Given the description of an element on the screen output the (x, y) to click on. 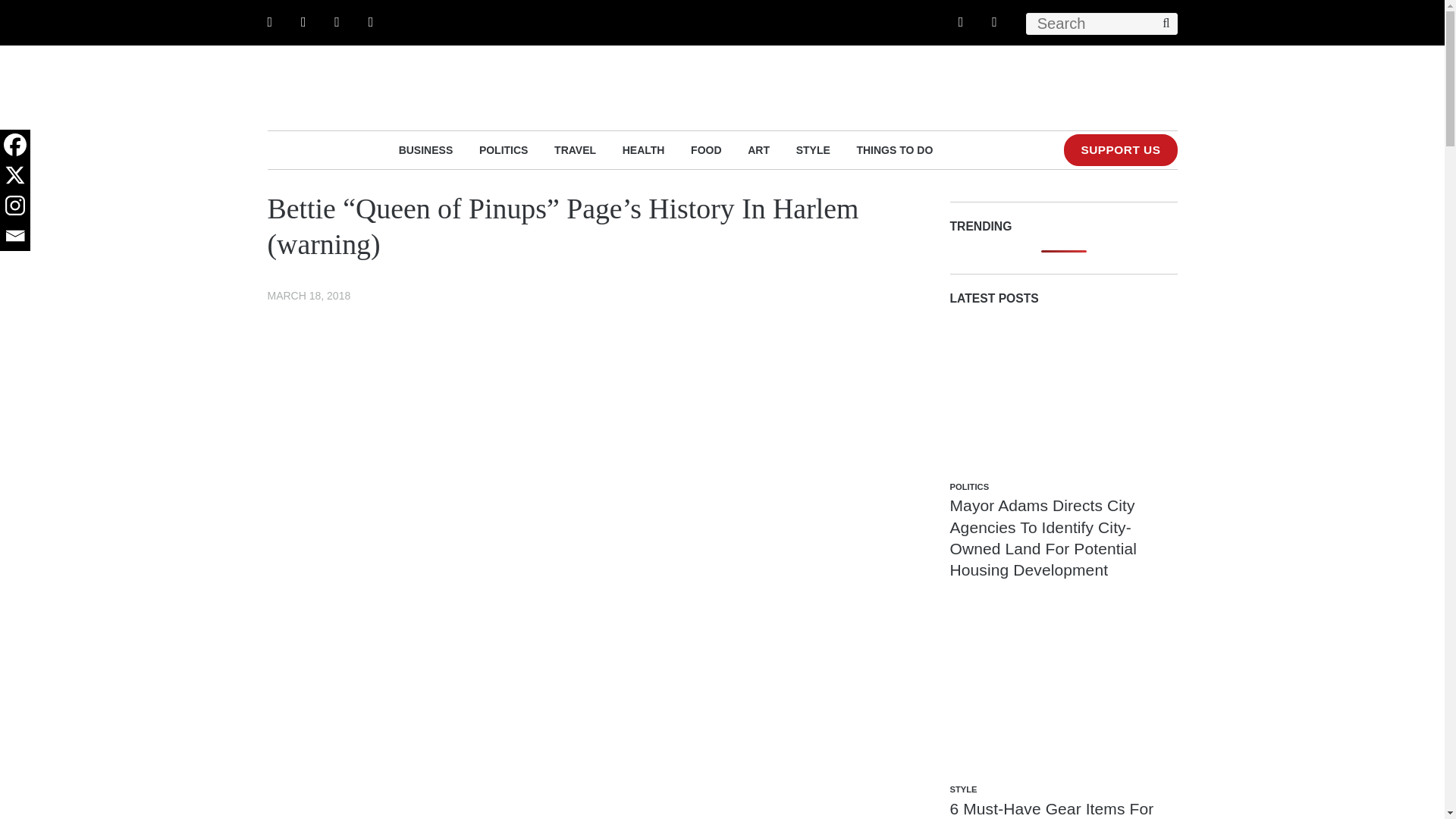
Facebook (15, 144)
TRAVEL (574, 149)
Instagram (15, 205)
THINGS TO DO (894, 149)
BUSINESS (425, 149)
POLITICS (503, 149)
SUPPORT US (1120, 150)
Email (15, 235)
STYLE (812, 149)
X (15, 174)
